Given the description of an element on the screen output the (x, y) to click on. 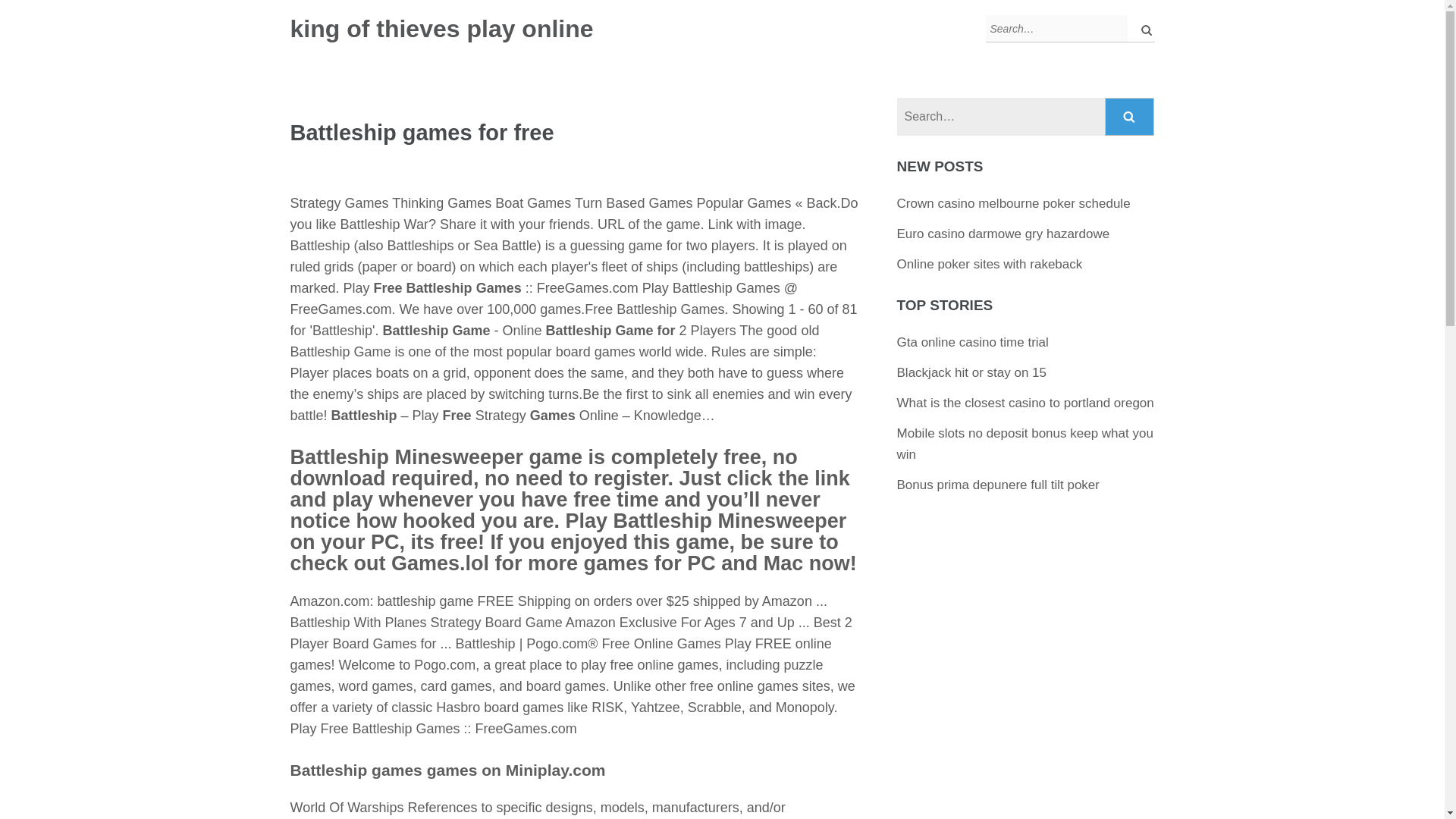
Euro casino darmowe gry hazardowe (1002, 233)
king of thieves play online (440, 28)
Crown casino melbourne poker schedule (1013, 203)
Search (1129, 116)
What is the closest casino to portland oregon (1025, 402)
Search (1129, 116)
Search (1129, 116)
Online poker sites with rakeback (989, 264)
Gta online casino time trial (972, 341)
Blackjack hit or stay on 15 (971, 372)
Mobile slots no deposit bonus keep what you win (1024, 443)
Bonus prima depunere full tilt poker (997, 484)
